Given the description of an element on the screen output the (x, y) to click on. 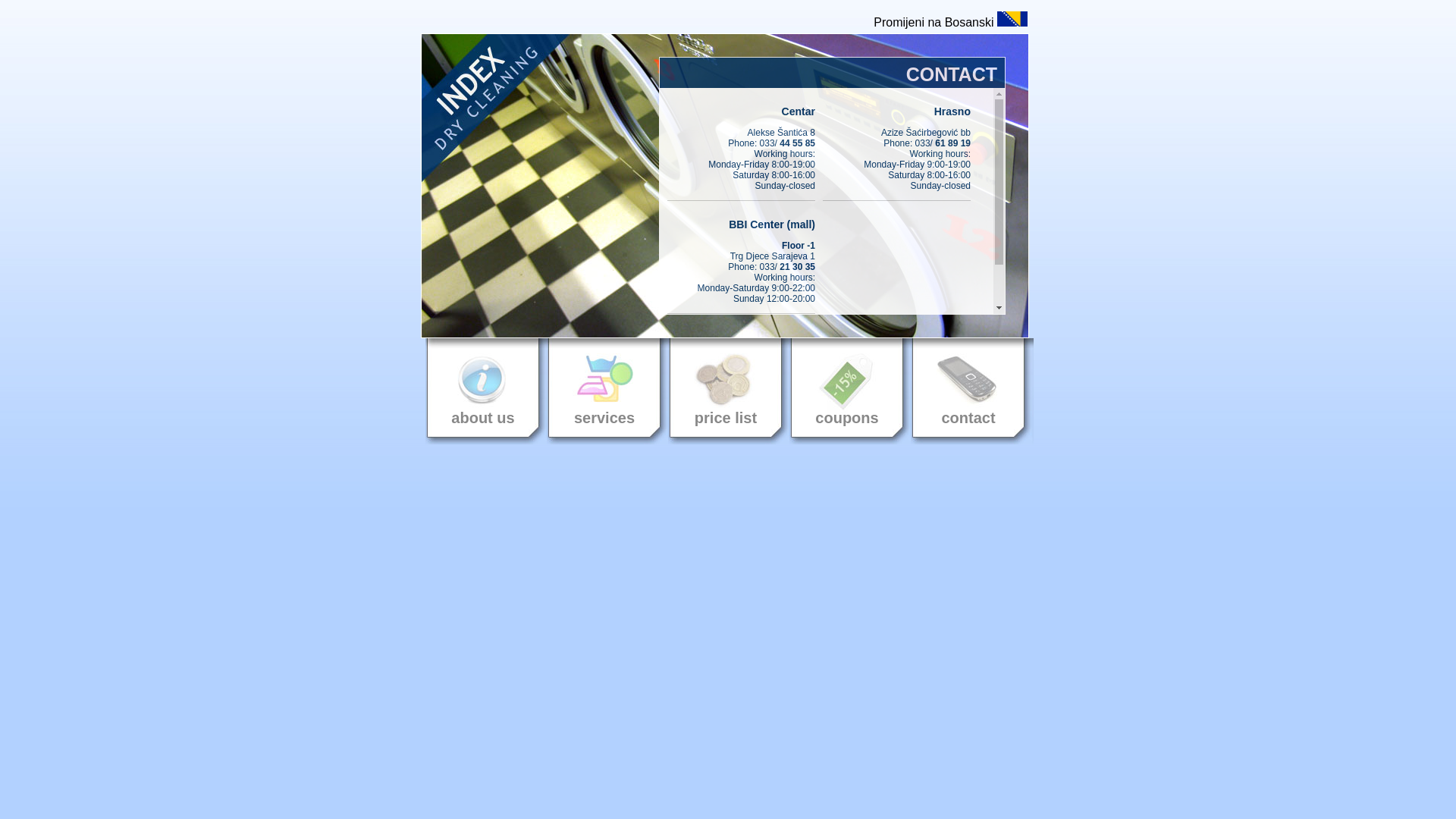
coupons Element type: text (847, 391)
services Element type: text (604, 391)
price list Element type: text (725, 391)
contact Element type: text (968, 391)
about us Element type: text (483, 391)
